Given the description of an element on the screen output the (x, y) to click on. 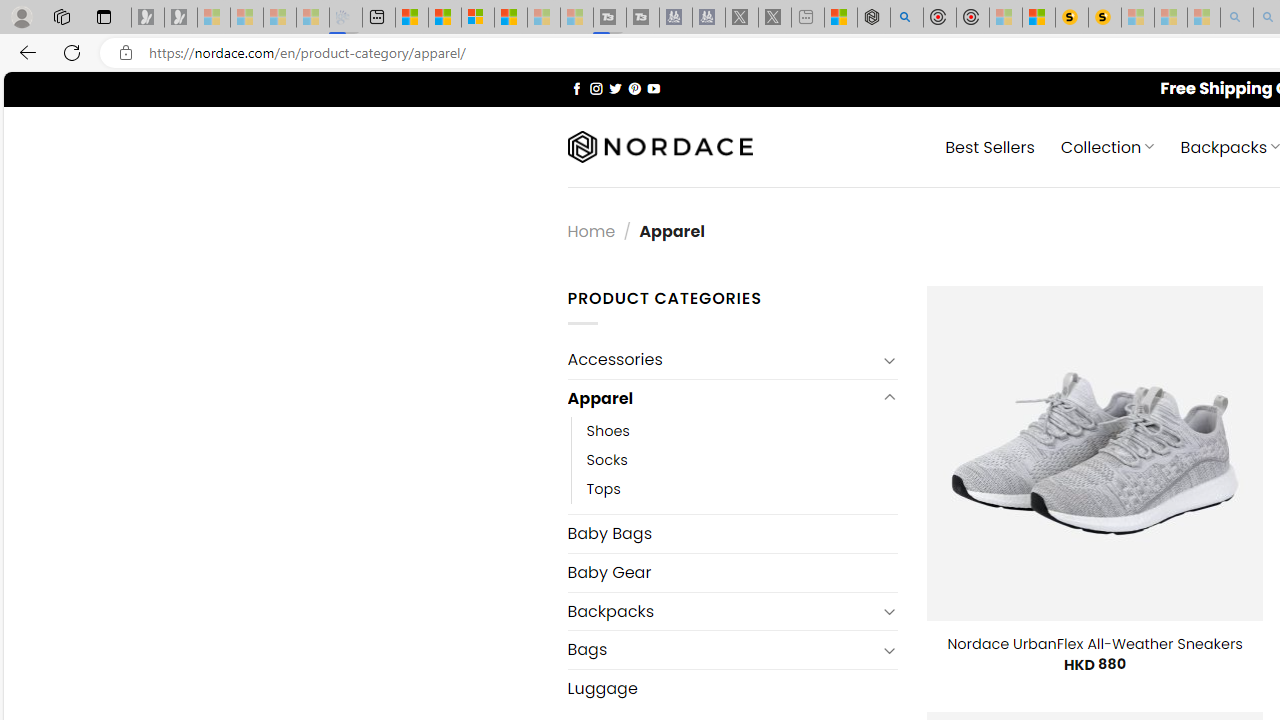
Nordace UrbanFlex All-Weather Sneakers (1094, 643)
Socks (607, 460)
Newsletter Sign Up - Sleeping (181, 17)
